Given the description of an element on the screen output the (x, y) to click on. 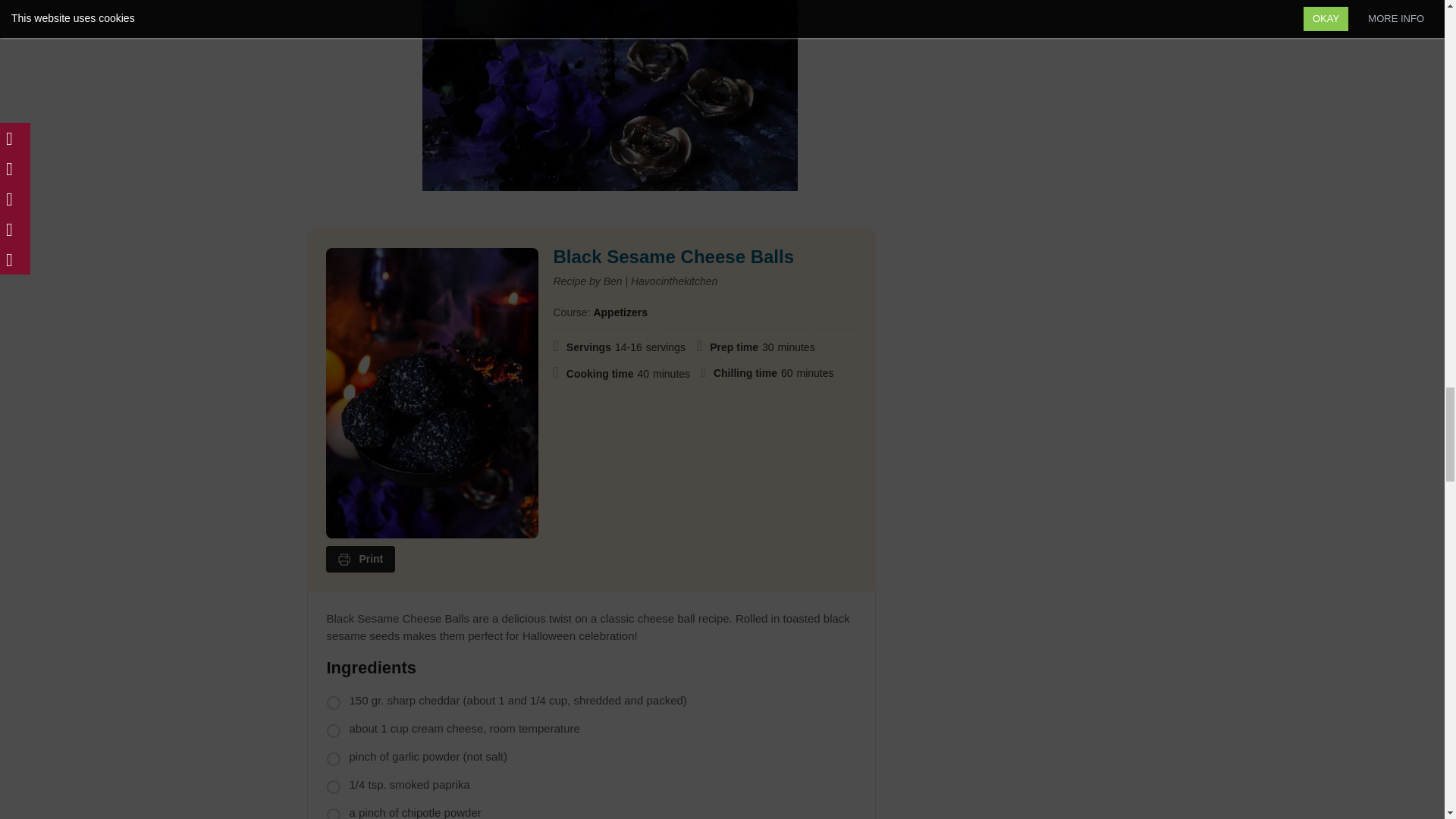
Print directions... (361, 559)
Print (361, 559)
